Given the description of an element on the screen output the (x, y) to click on. 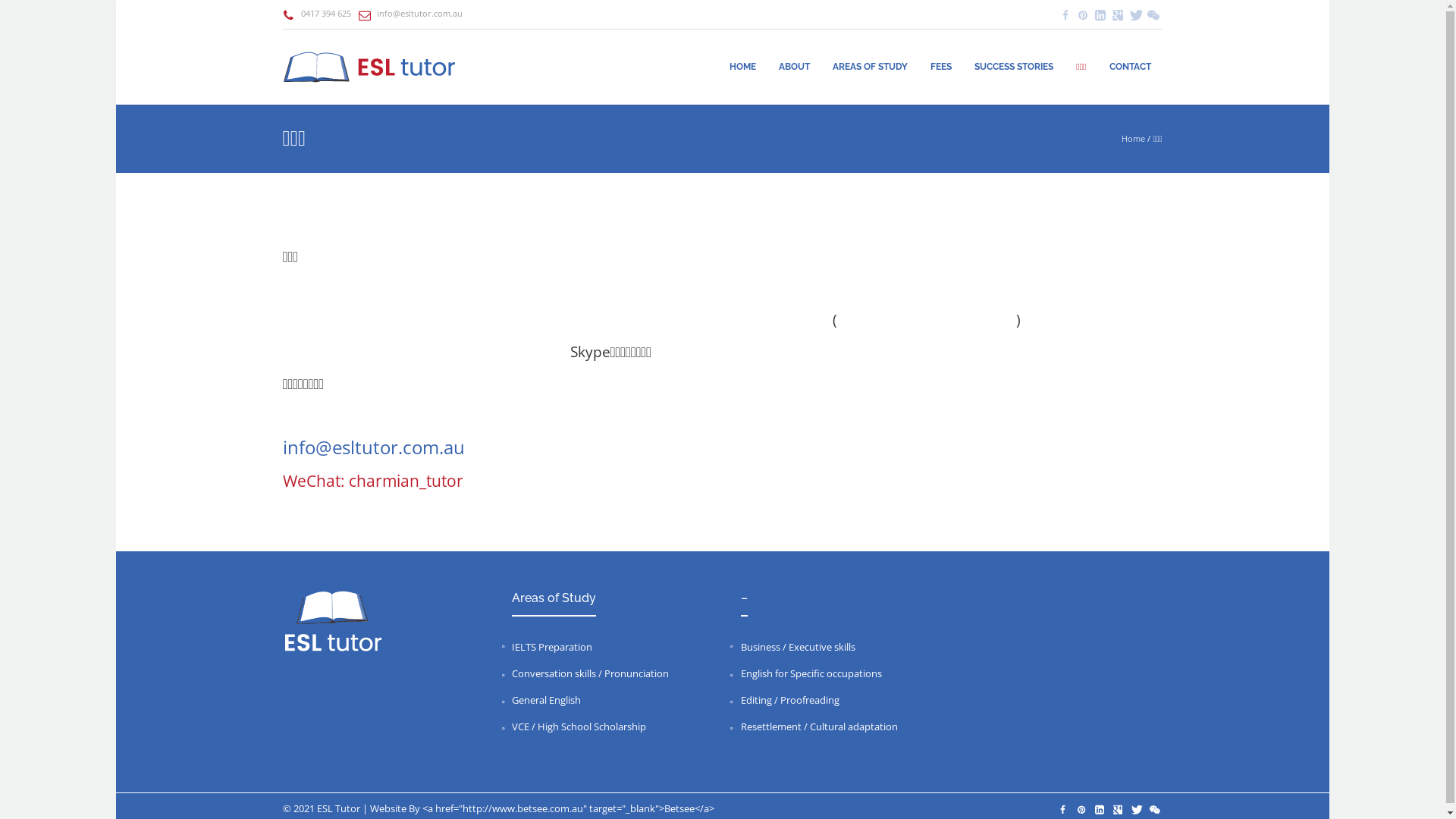
CONTACT Element type: text (1130, 66)
VCE / High School Scholarship Element type: text (578, 726)
Facebook Element type: hover (1063, 809)
twitter Element type: hover (1135, 809)
AREAS OF STUDY Element type: text (870, 66)
twitter Element type: hover (1134, 14)
Home Element type: text (1133, 138)
google+ Element type: hover (1117, 14)
Conversation skills / Pronunciation Element type: text (589, 673)
WeChat Element type: hover (1154, 809)
Pinterest Element type: hover (1081, 809)
SUCCESS STORIES Element type: text (1013, 66)
Pinterest Element type: hover (1082, 14)
FEES Element type: text (941, 66)
Editing / Proofreading Element type: text (789, 699)
linkedin Element type: hover (1099, 14)
Business / Executive skills Element type: text (797, 646)
google+ Element type: hover (1117, 809)
linkedin Element type: hover (1099, 809)
ABOUT Element type: text (794, 66)
info@esltutor.com.au Element type: text (373, 450)
English for Specific occupations Element type: text (810, 673)
General English Element type: text (545, 699)
Resettlement / Cultural adaptation Element type: text (818, 726)
WeChat Element type: hover (1152, 14)
HOME Element type: text (742, 66)
IELTS Preparation Element type: text (551, 646)
Facebook Element type: hover (1064, 14)
